Given the description of an element on the screen output the (x, y) to click on. 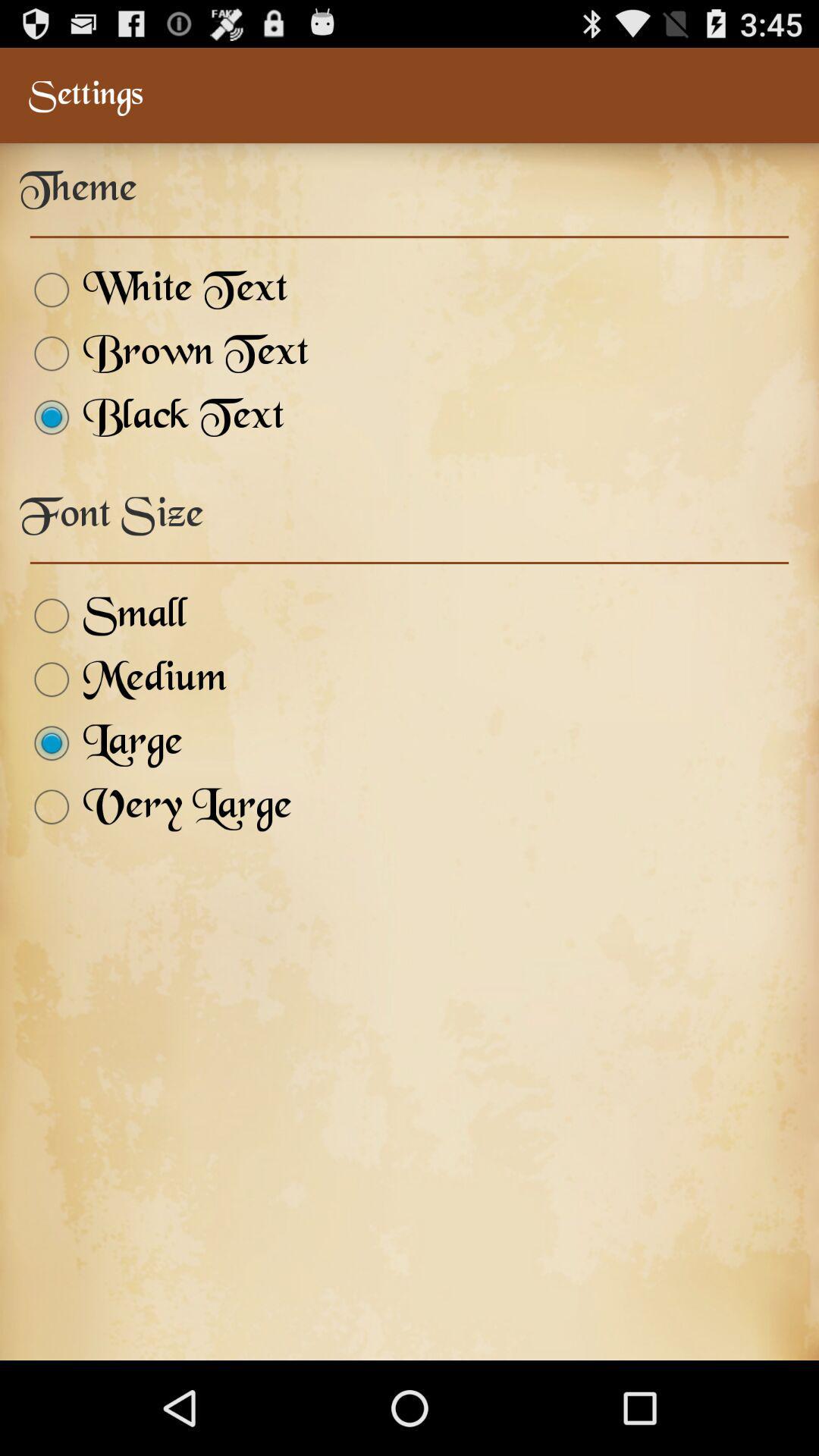
turn on item above the medium (103, 615)
